Given the description of an element on the screen output the (x, y) to click on. 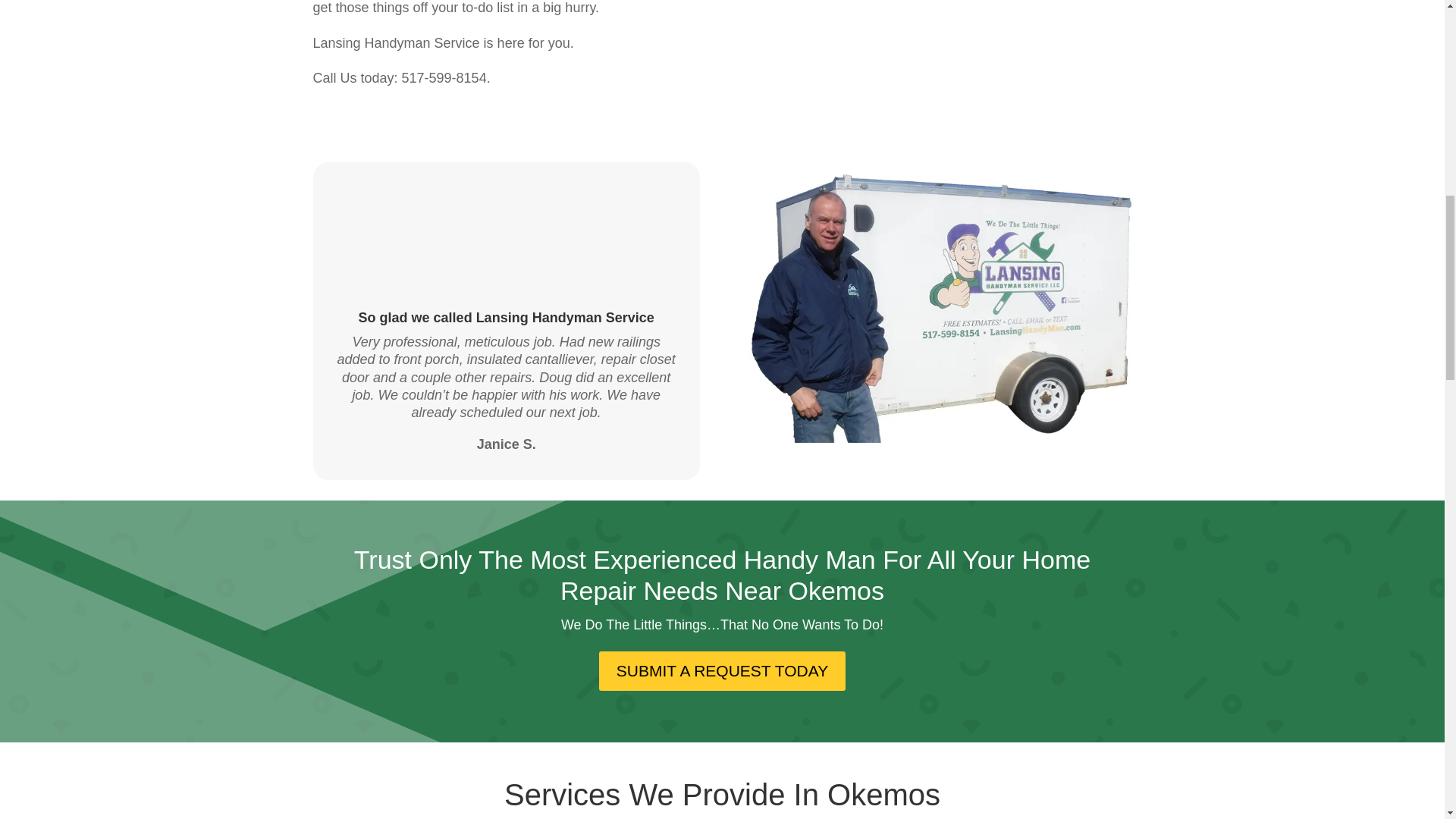
Experienced-Handyman Near Okemos (937, 302)
